Given the description of an element on the screen output the (x, y) to click on. 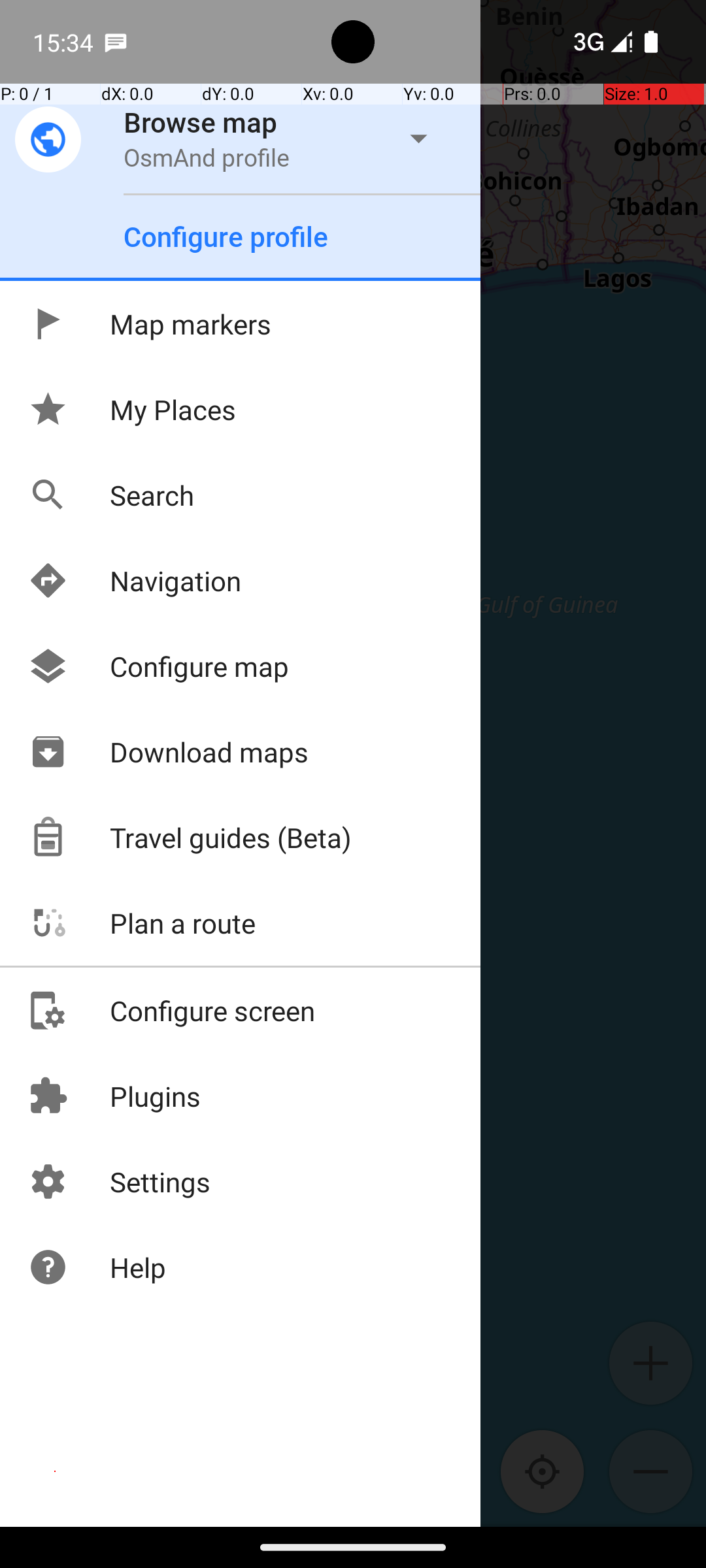
Browse map Element type: android.widget.TextView (200, 121)
OsmAnd profile Element type: android.widget.TextView (206, 156)
Configure profile Element type: android.widget.TextView (225, 235)
Map markers Element type: android.widget.TextView (149, 323)
My Places Element type: android.widget.TextView (131, 409)
Navigation Element type: android.widget.TextView (134, 580)
Download maps Element type: android.widget.TextView (168, 751)
Travel guides (Beta) Element type: android.widget.TextView (189, 837)
Plan a route Element type: android.widget.TextView (141, 922)
Configure screen Element type: android.widget.TextView (171, 1010)
Plugins Element type: android.widget.TextView (114, 1095)
Help Element type: android.widget.TextView (96, 1266)
